Given the description of an element on the screen output the (x, y) to click on. 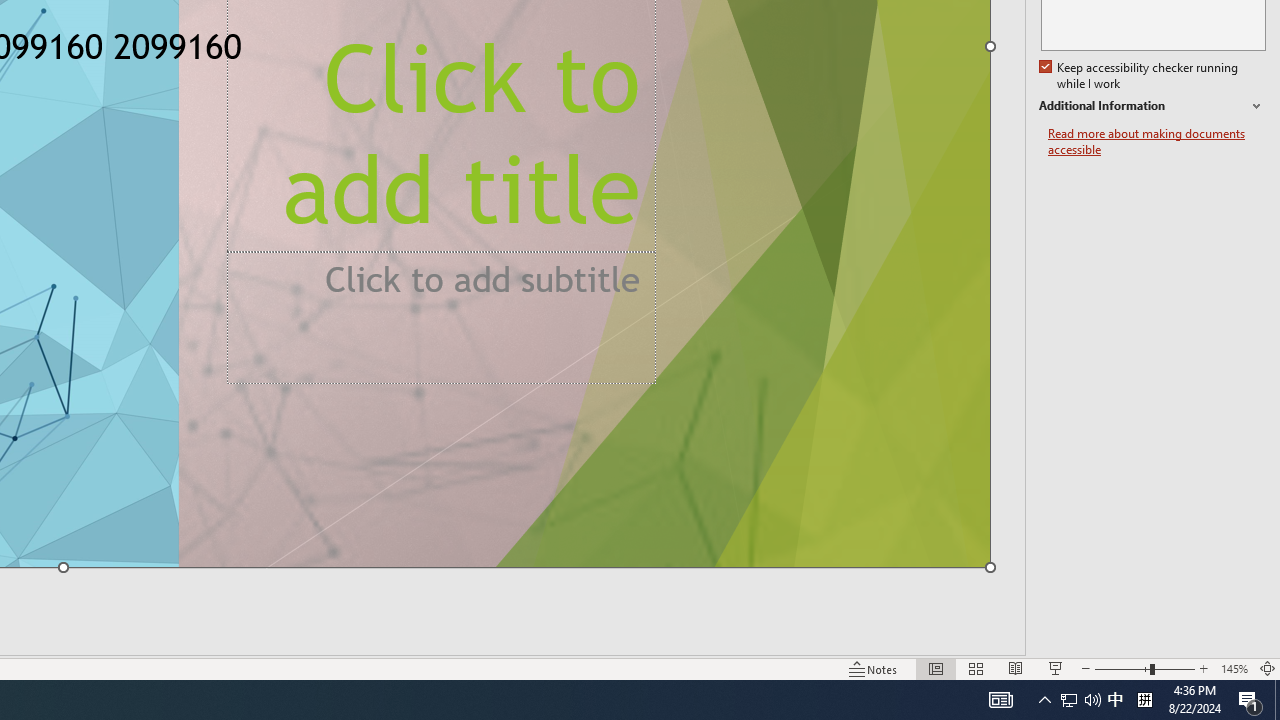
Zoom 145% (1234, 668)
